Given the description of an element on the screen output the (x, y) to click on. 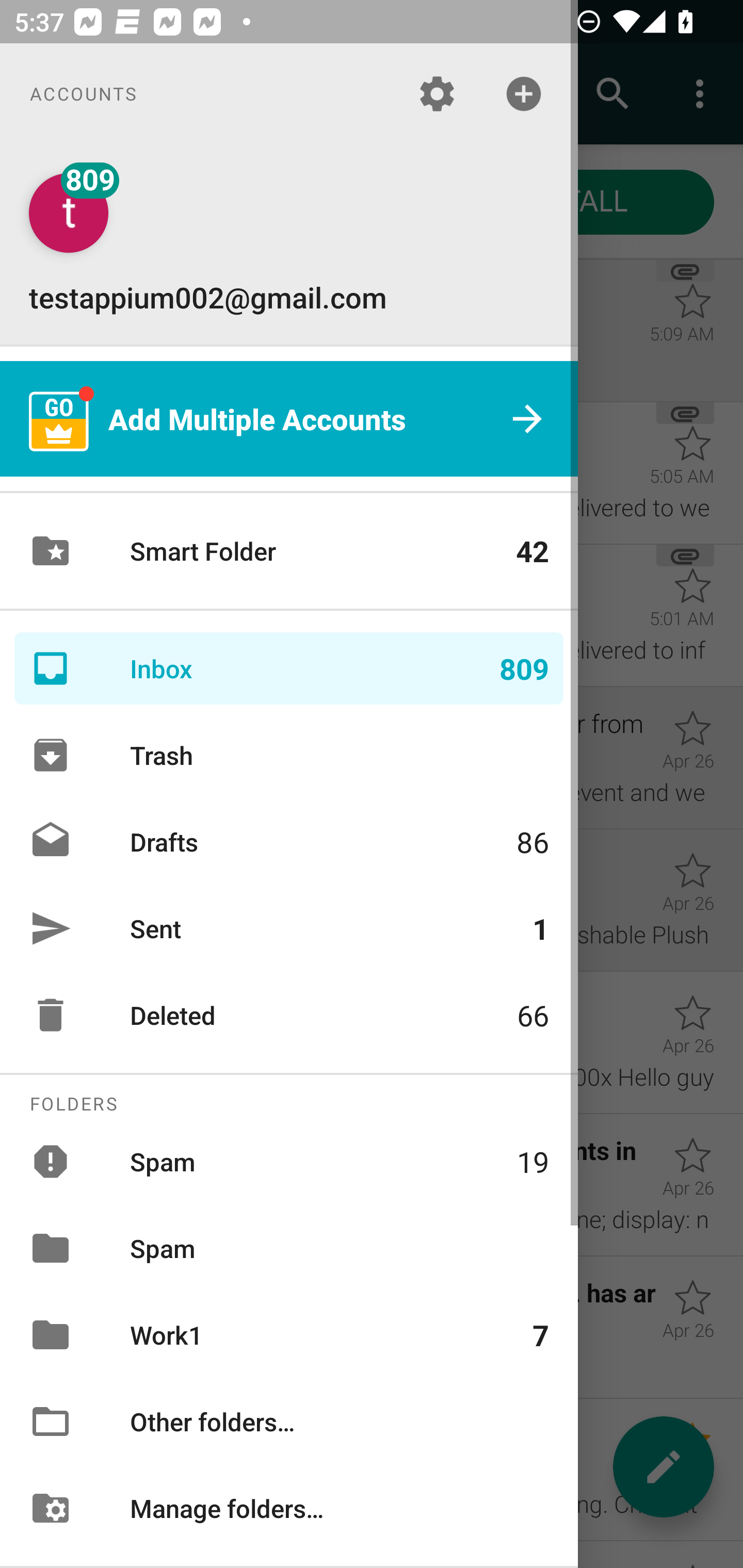
testappium002@gmail.com (289, 244)
Add Multiple Accounts (289, 418)
Smart Folder 42 (289, 551)
Inbox 809 (289, 668)
Trash (289, 754)
Drafts 86 (289, 841)
Sent 1 (289, 928)
Deleted 66 (289, 1015)
Spam 19 (289, 1160)
Spam (289, 1248)
Work1 7 (289, 1335)
Other folders… (289, 1421)
Manage folders… (289, 1507)
